Given the description of an element on the screen output the (x, y) to click on. 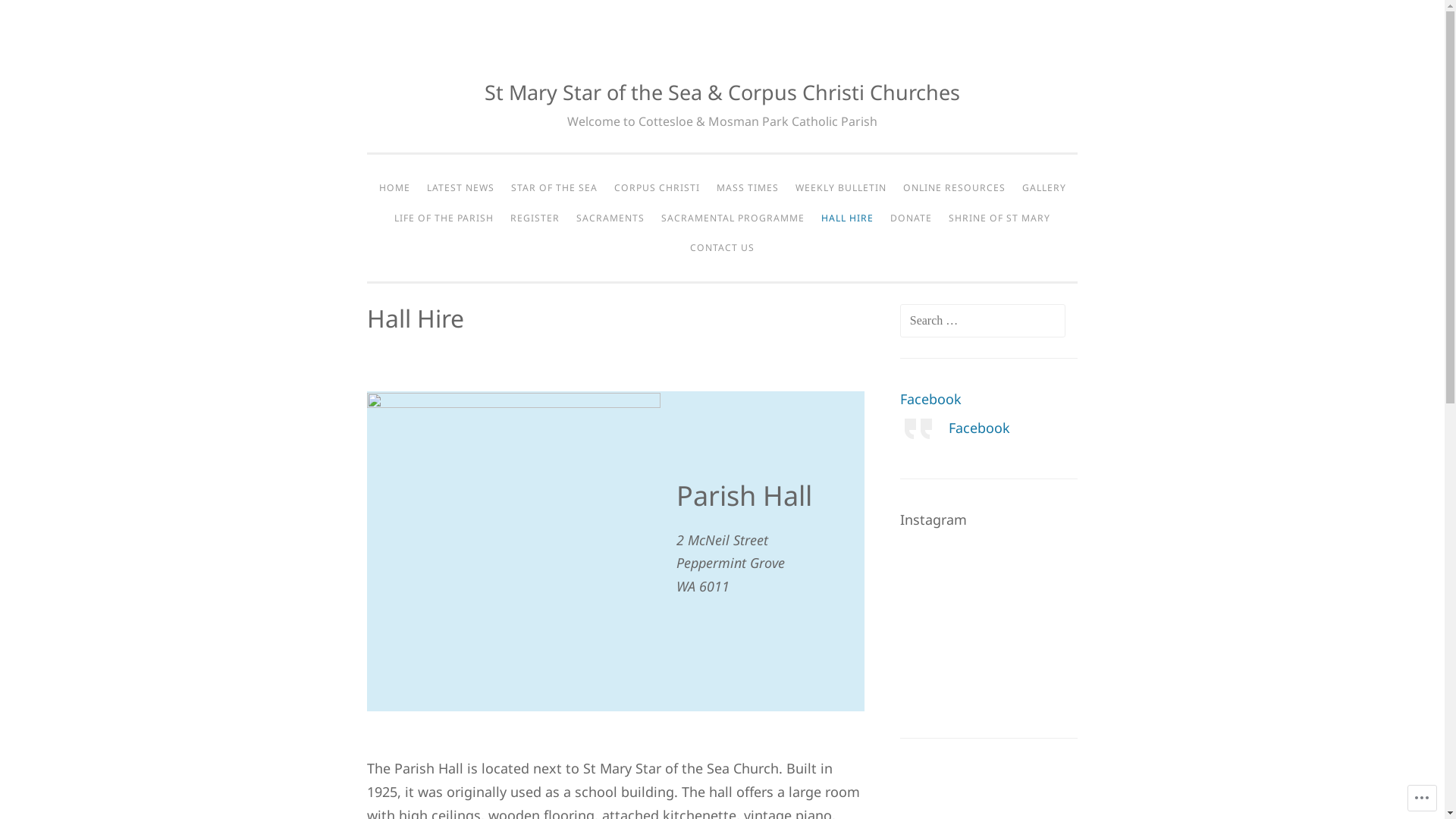
HOME Element type: text (393, 187)
SHRINE OF ST MARY Element type: text (999, 218)
SACRAMENTS Element type: text (610, 218)
CONTACT US Element type: text (722, 247)
HALL HIRE Element type: text (847, 218)
ONLINE RESOURCES Element type: text (954, 187)
Facebook Element type: text (930, 398)
MASS TIMES Element type: text (747, 187)
CORPUS CHRISTI Element type: text (656, 187)
STAR OF THE SEA Element type: text (553, 187)
SACRAMENTAL PROGRAMME Element type: text (732, 218)
LIFE OF THE PARISH Element type: text (443, 218)
GALLERY Element type: text (1043, 187)
REGISTER Element type: text (534, 218)
Facebook Element type: text (979, 427)
LATEST NEWS Element type: text (460, 187)
DONATE Element type: text (910, 218)
St Mary Star of the Sea & Corpus Christi Churches Element type: text (722, 92)
WEEKLY BULLETIN Element type: text (840, 187)
Search Element type: text (37, 18)
